Given the description of an element on the screen output the (x, y) to click on. 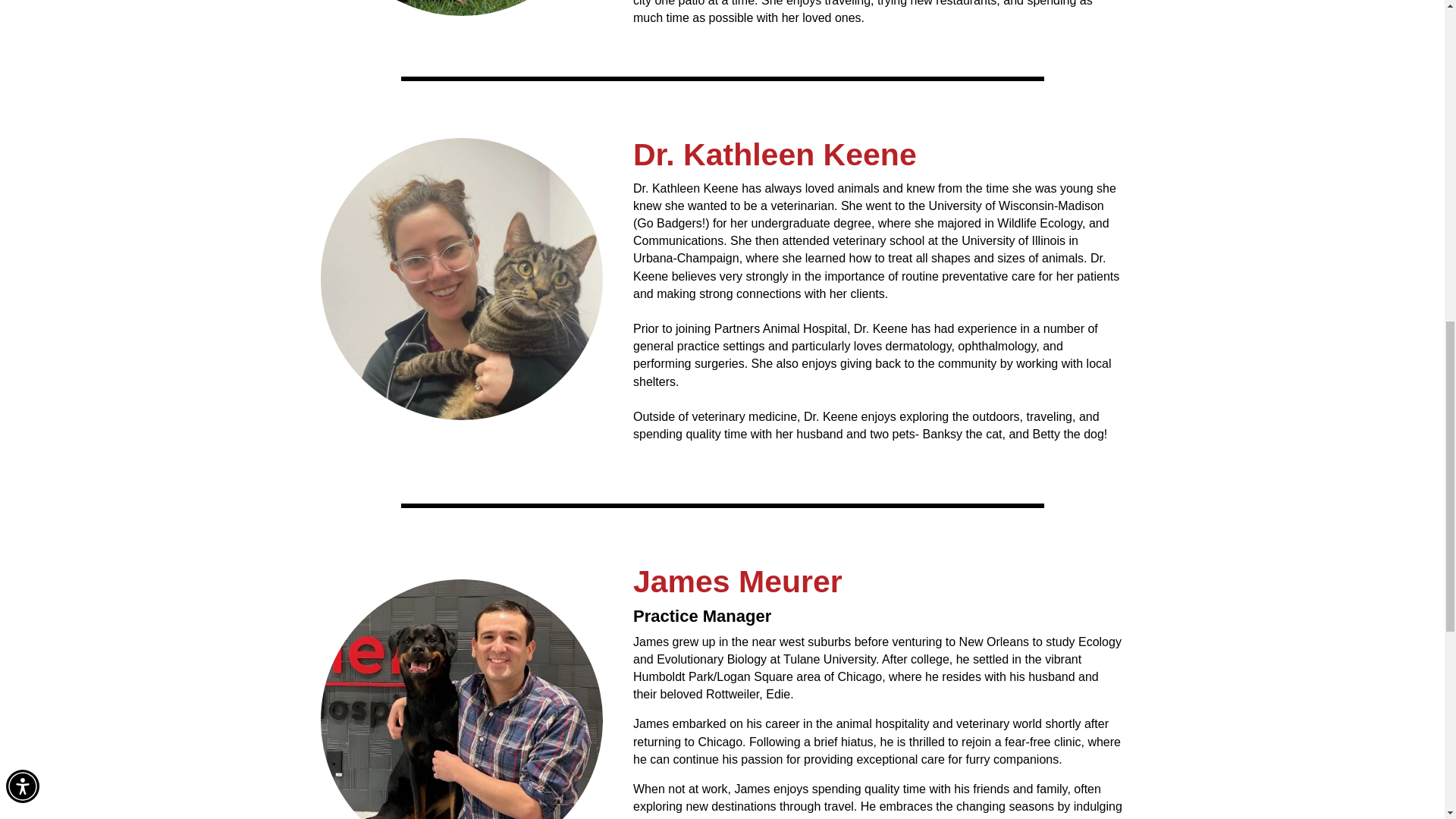
Dr Kenne (461, 279)
James at PAH South Loop (461, 699)
Sharpe Bio (461, 7)
